Given the description of an element on the screen output the (x, y) to click on. 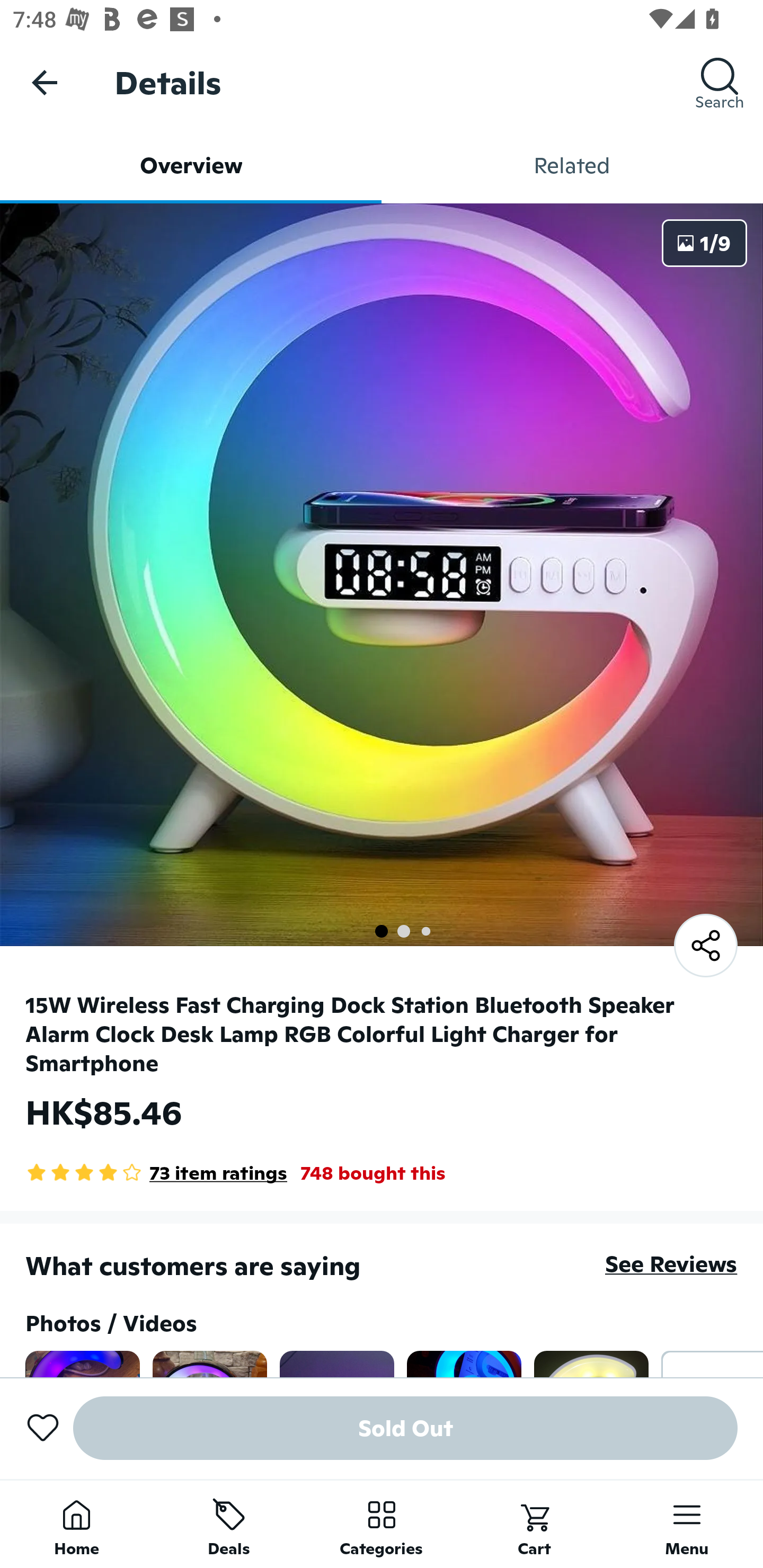
Navigate up (44, 82)
Search (719, 82)
Related (572, 165)
1/9 (704, 242)
4.1 Star Rating 73 item ratings (156, 1172)
See Reviews (671, 1264)
Sold Out (405, 1428)
Home (76, 1523)
Deals (228, 1523)
Categories (381, 1523)
Cart (533, 1523)
Menu (686, 1523)
